Given the description of an element on the screen output the (x, y) to click on. 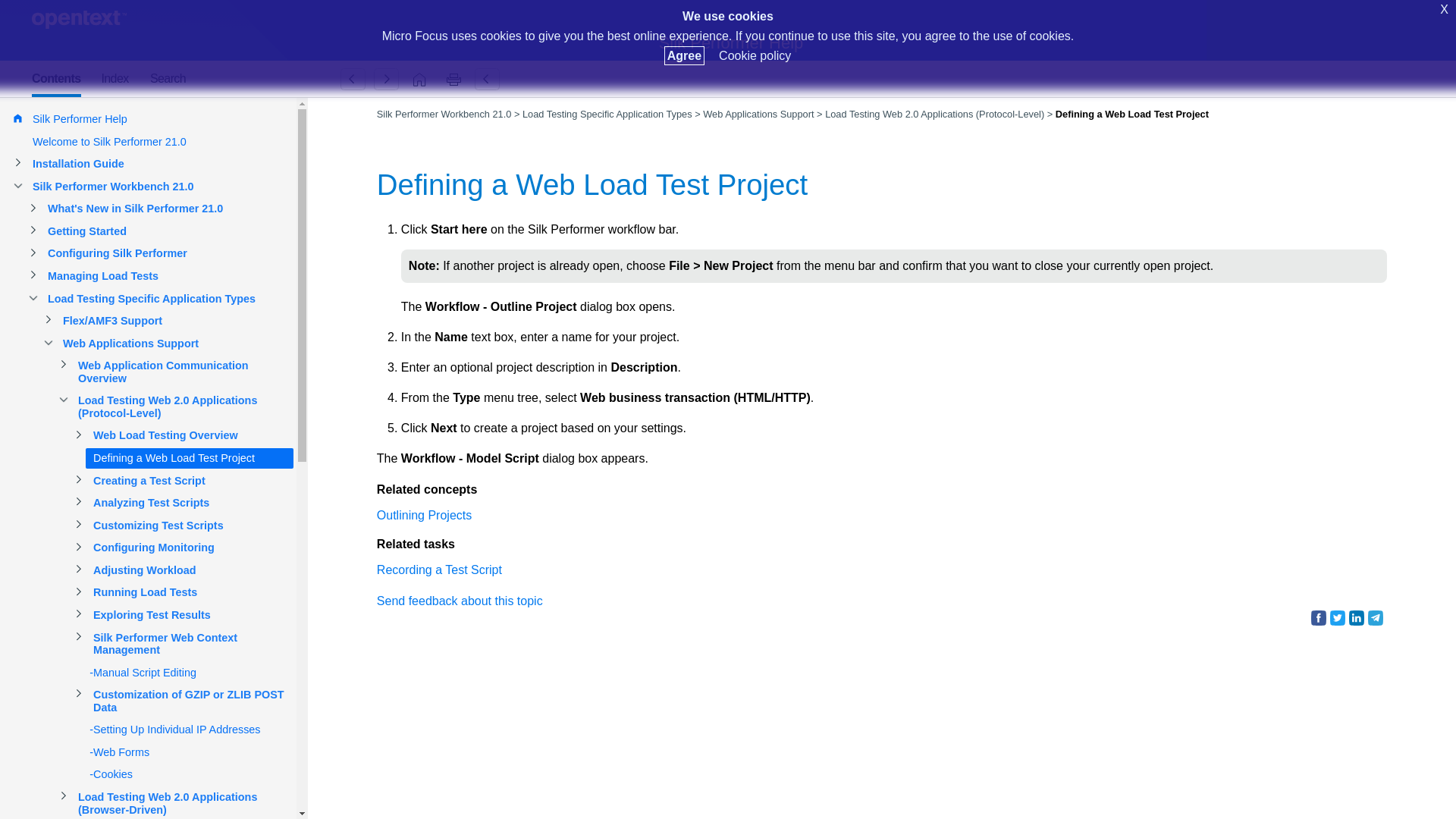
Agree (684, 55)
Sample Web 2.0 Application (352, 78)
Cookie policy (754, 55)
Creating a Test Script (386, 78)
